Given the description of an element on the screen output the (x, y) to click on. 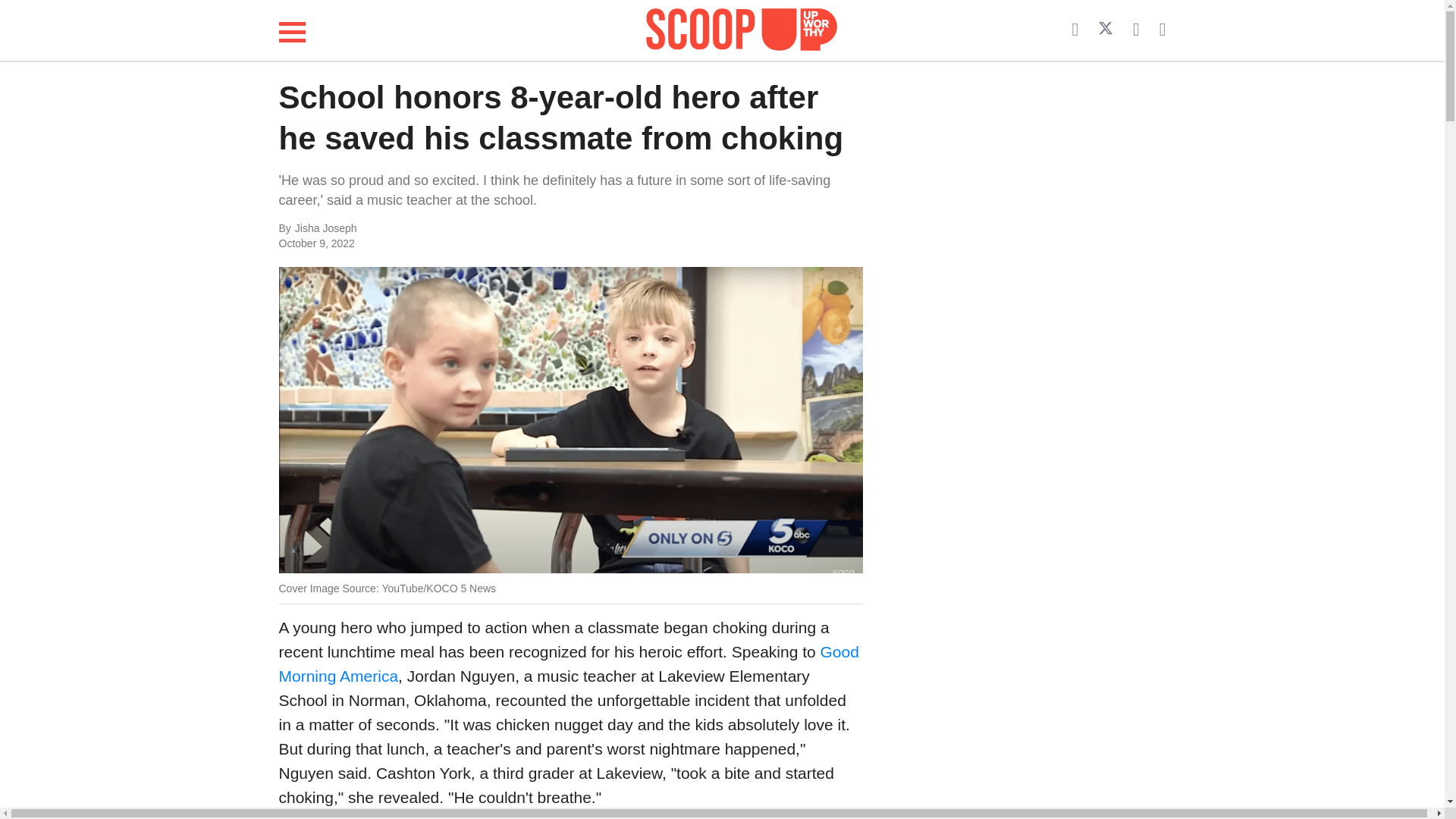
SCOOP UPWORTHY (741, 27)
Jisha Joseph (445, 228)
Good Morning America (569, 663)
SCOOP UPWORTHY (741, 29)
